Given the description of an element on the screen output the (x, y) to click on. 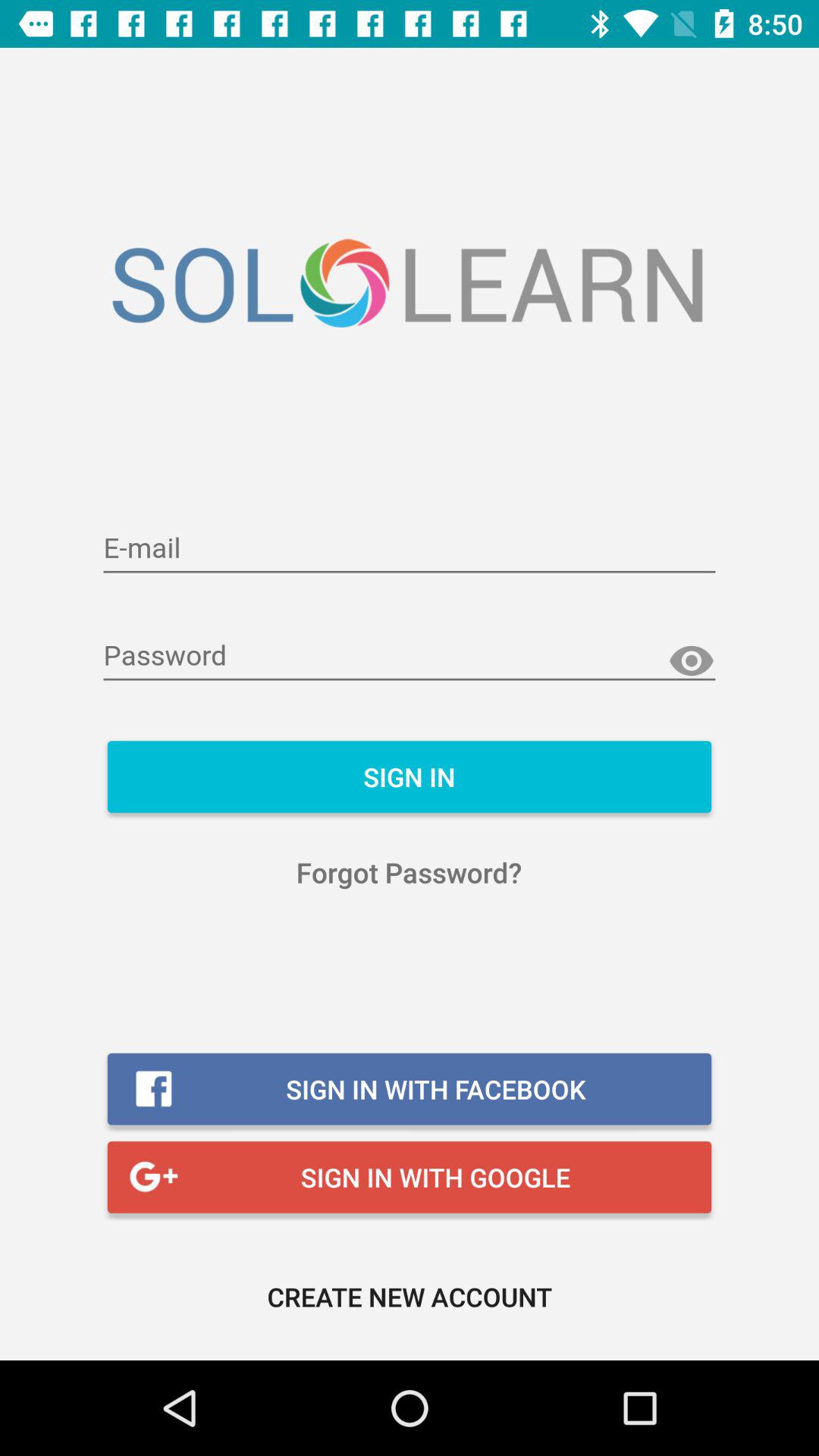
put password (409, 656)
